Given the description of an element on the screen output the (x, y) to click on. 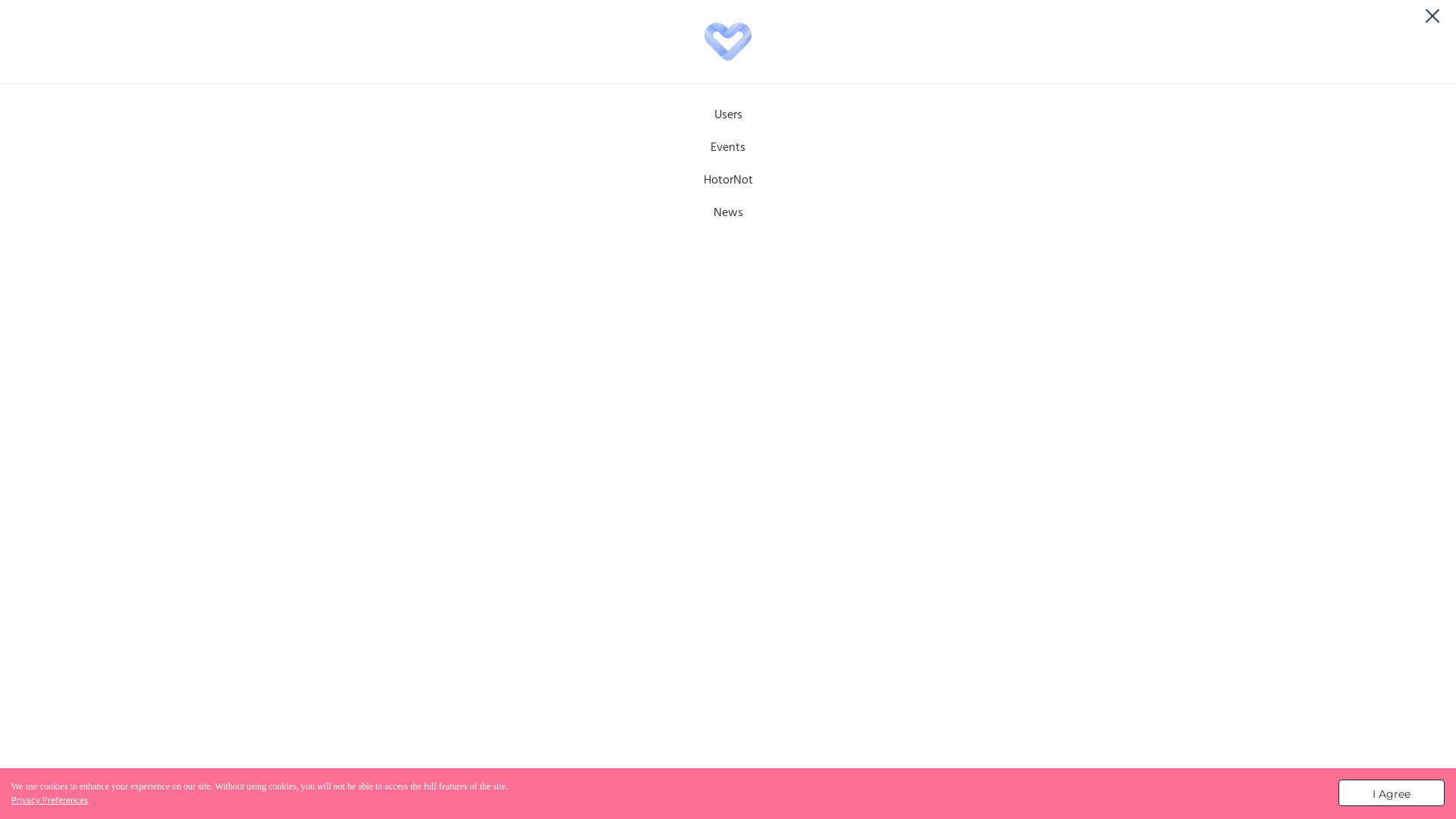
dehaze Element type: text (43, 61)
HotorNot Element type: text (727, 180)
Privacy policy Element type: text (380, 783)
Events Element type: text (727, 147)
About Element type: text (517, 689)
dyrectory.com - business directory Element type: text (582, 783)
1single.com Element type: text (163, 36)
x Element type: text (3, 369)
News Element type: text (727, 213)
HotorNot Element type: text (716, 79)
Testimonials Element type: text (442, 689)
Log in Element type: text (1387, 71)
Terms and conditions Element type: text (274, 783)
News Element type: text (366, 689)
Users Element type: text (604, 79)
Privacy Preferences Element type: text (49, 800)
Events Element type: text (654, 79)
I Agree Element type: text (1391, 792)
Users Element type: text (727, 115)
News Element type: text (774, 79)
